Given the description of an element on the screen output the (x, y) to click on. 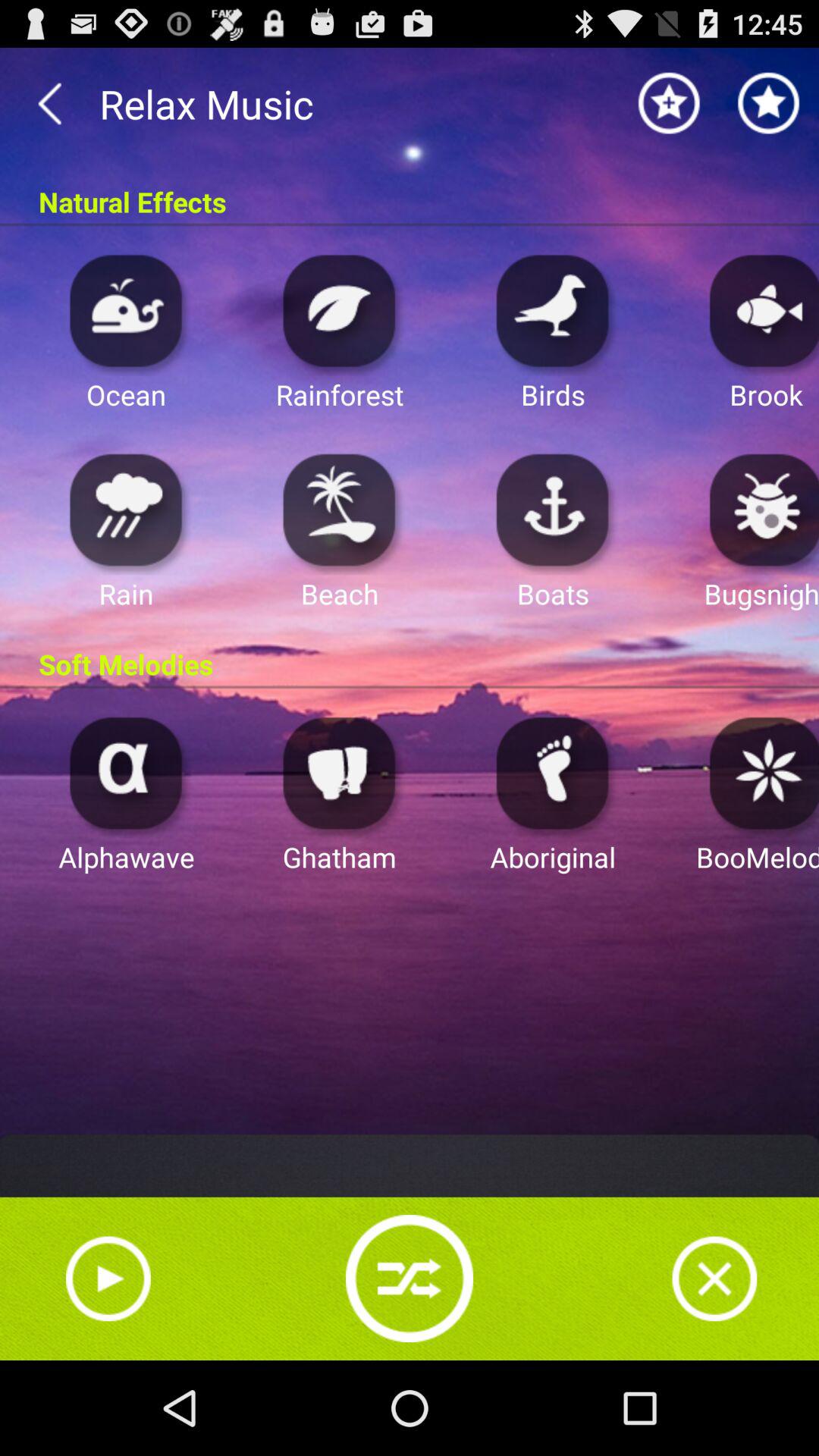
refresh (409, 1278)
